Given the description of an element on the screen output the (x, y) to click on. 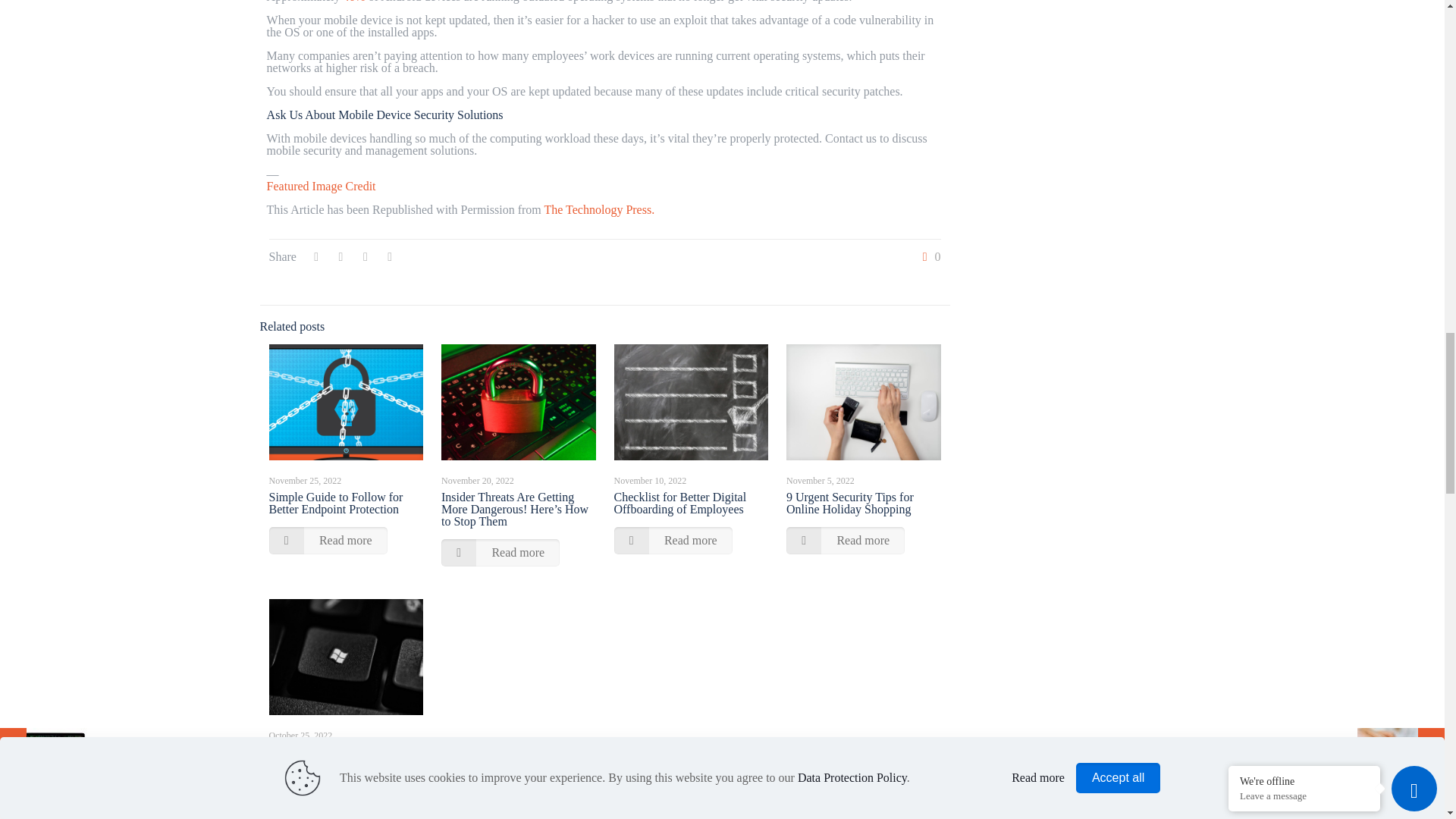
Top 5 Mobile Device Attacks You Need to Watch Out For (598, 209)
